Given the description of an element on the screen output the (x, y) to click on. 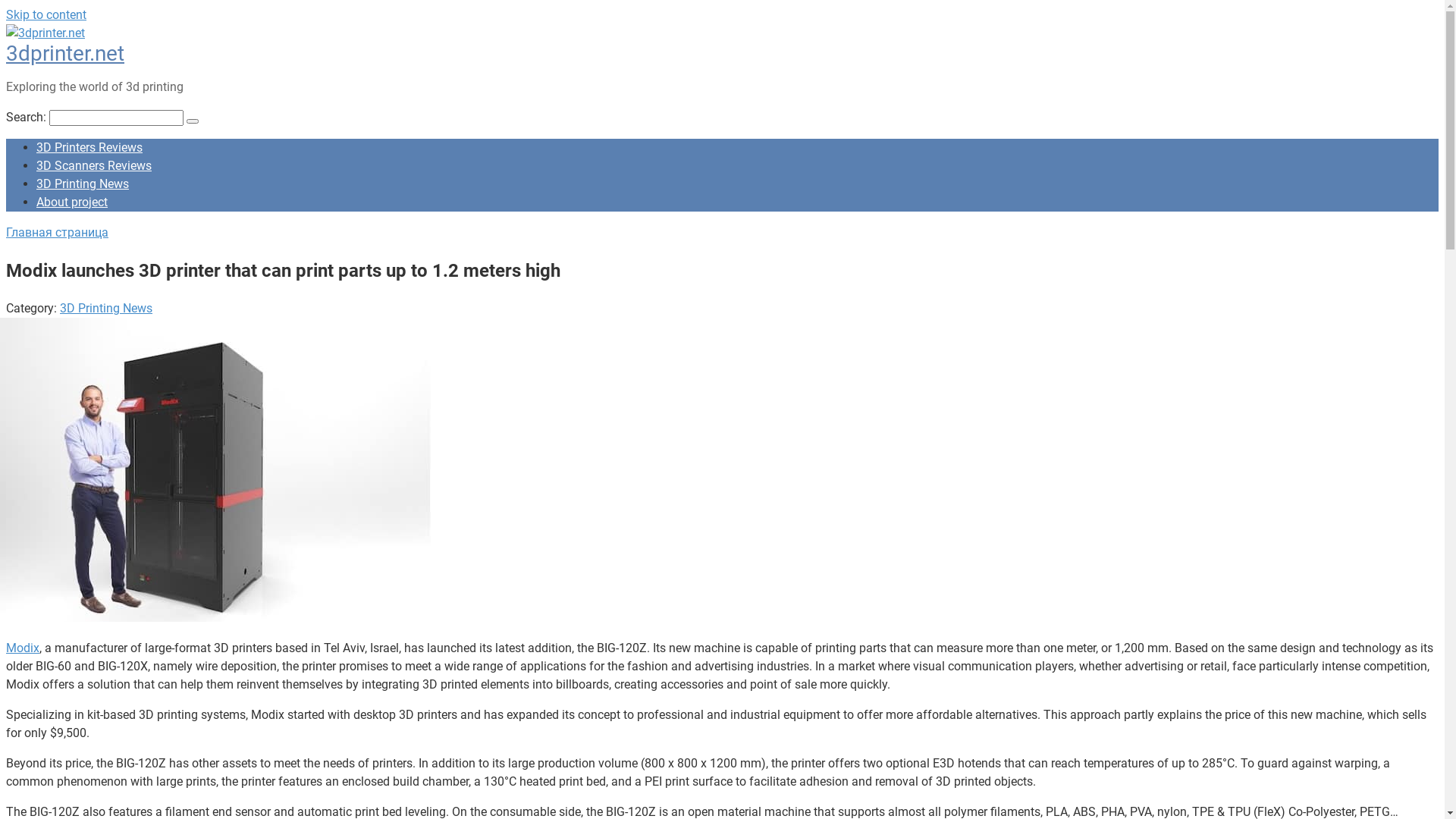
3D Scanners Reviews Element type: text (93, 165)
3D Printing News Element type: text (105, 308)
3D Printers Reviews Element type: text (89, 147)
Modix Element type: text (22, 647)
Skip to content Element type: text (46, 14)
About project Element type: text (71, 201)
3D Printing News Element type: text (82, 183)
3dprinter.net Element type: text (65, 52)
